Given the description of an element on the screen output the (x, y) to click on. 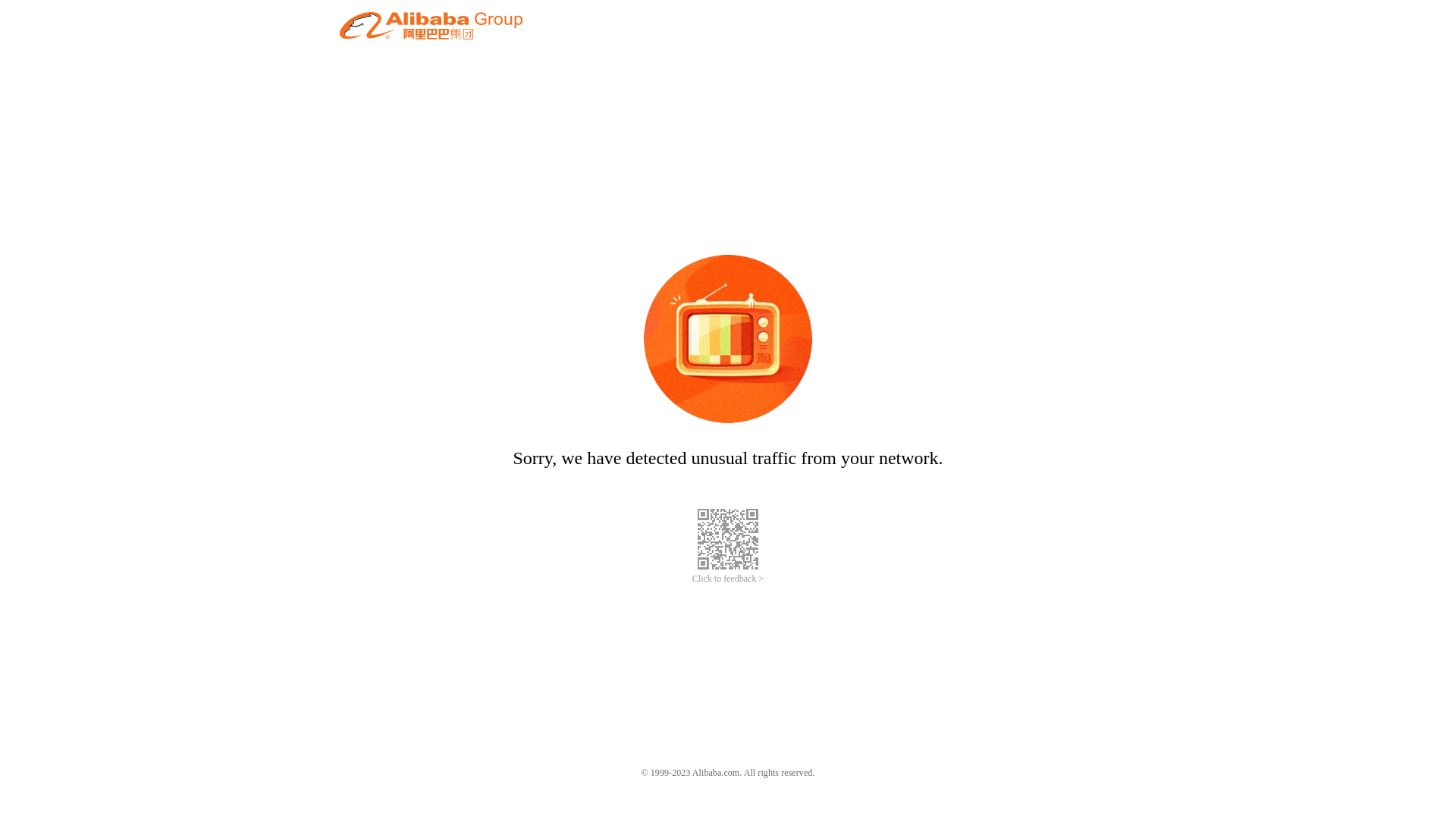
Click to feedback > Element type: text (727, 578)
